Given the description of an element on the screen output the (x, y) to click on. 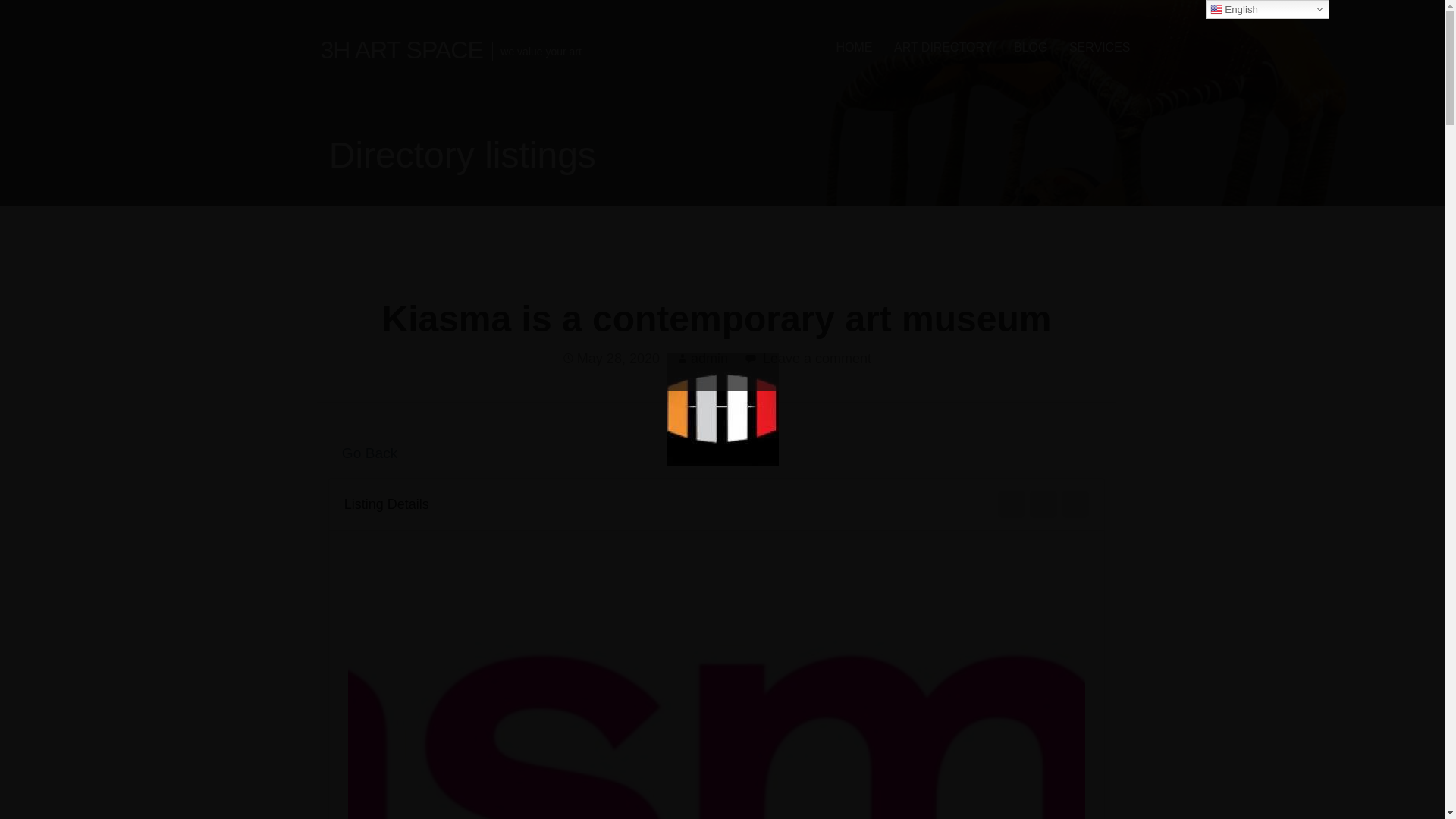
admin (709, 358)
Go Back (363, 453)
ART DIRECTORY (943, 47)
3H ART SPACE (400, 49)
Posts by admin (709, 358)
Leave a comment (816, 358)
